Given the description of an element on the screen output the (x, y) to click on. 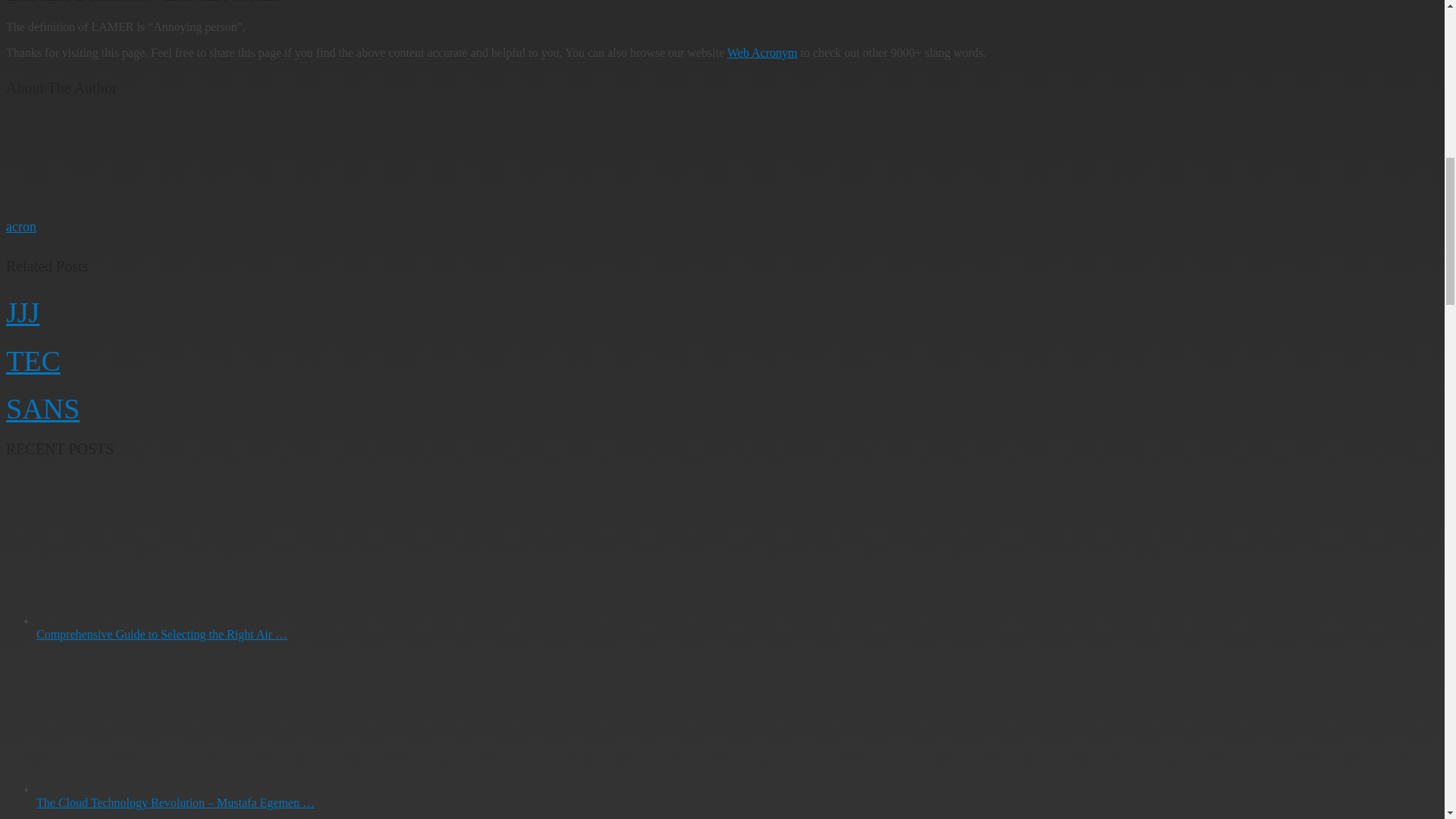
SANS (42, 409)
acron (20, 226)
SANS (42, 409)
JJJ (22, 312)
Web Acronym (761, 51)
TEC (33, 359)
